Given the description of an element on the screen output the (x, y) to click on. 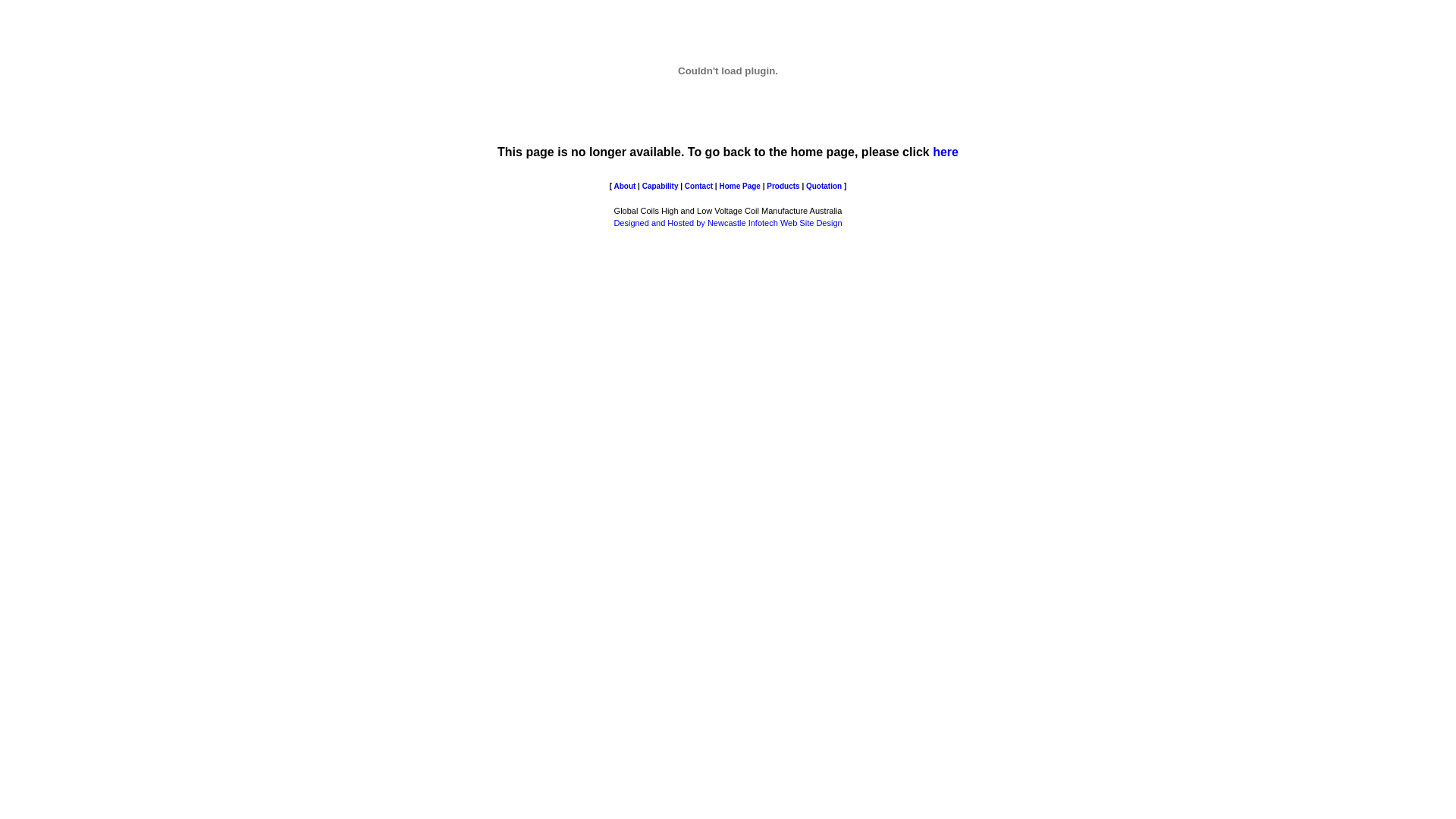
Designed and Hosted by Newcastle Infotech Web Site Design Element type: text (727, 222)
Quotation Element type: text (823, 186)
here Element type: text (945, 151)
Home Page Element type: text (738, 186)
Products Element type: text (782, 186)
Contact Element type: text (698, 186)
About Element type: text (624, 186)
Capability Element type: text (660, 186)
